Given the description of an element on the screen output the (x, y) to click on. 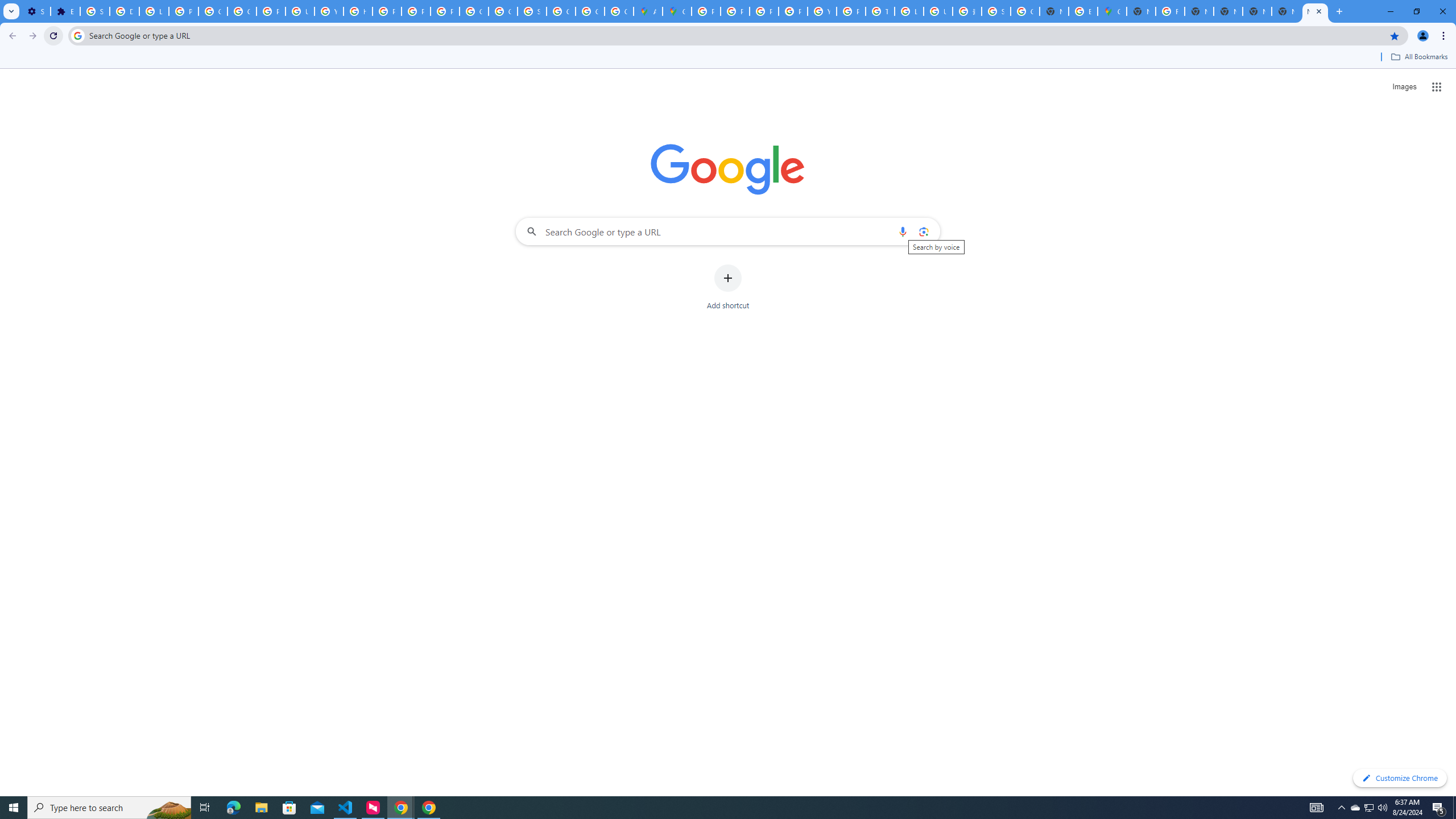
Privacy Help Center - Policies Help (386, 11)
